Given the description of an element on the screen output the (x, y) to click on. 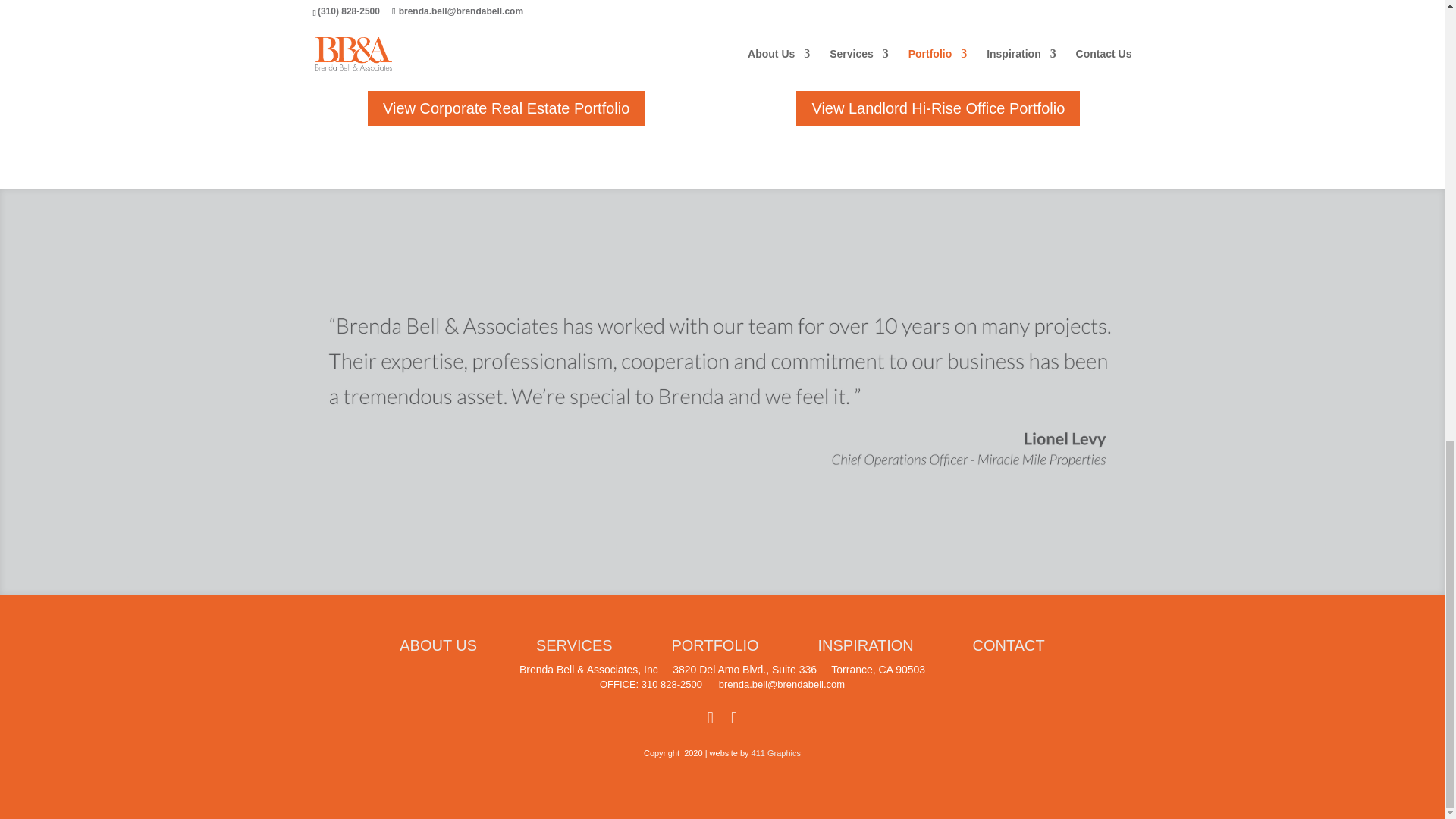
View Landlord Hi-Rise Office Portfolio (937, 108)
ABOUT US (437, 645)
            INSPIRATION (840, 645)
SERVICES (573, 645)
View Corporate Real Estate Portfolio (506, 108)
PORTFOLIO (714, 645)
